Given the description of an element on the screen output the (x, y) to click on. 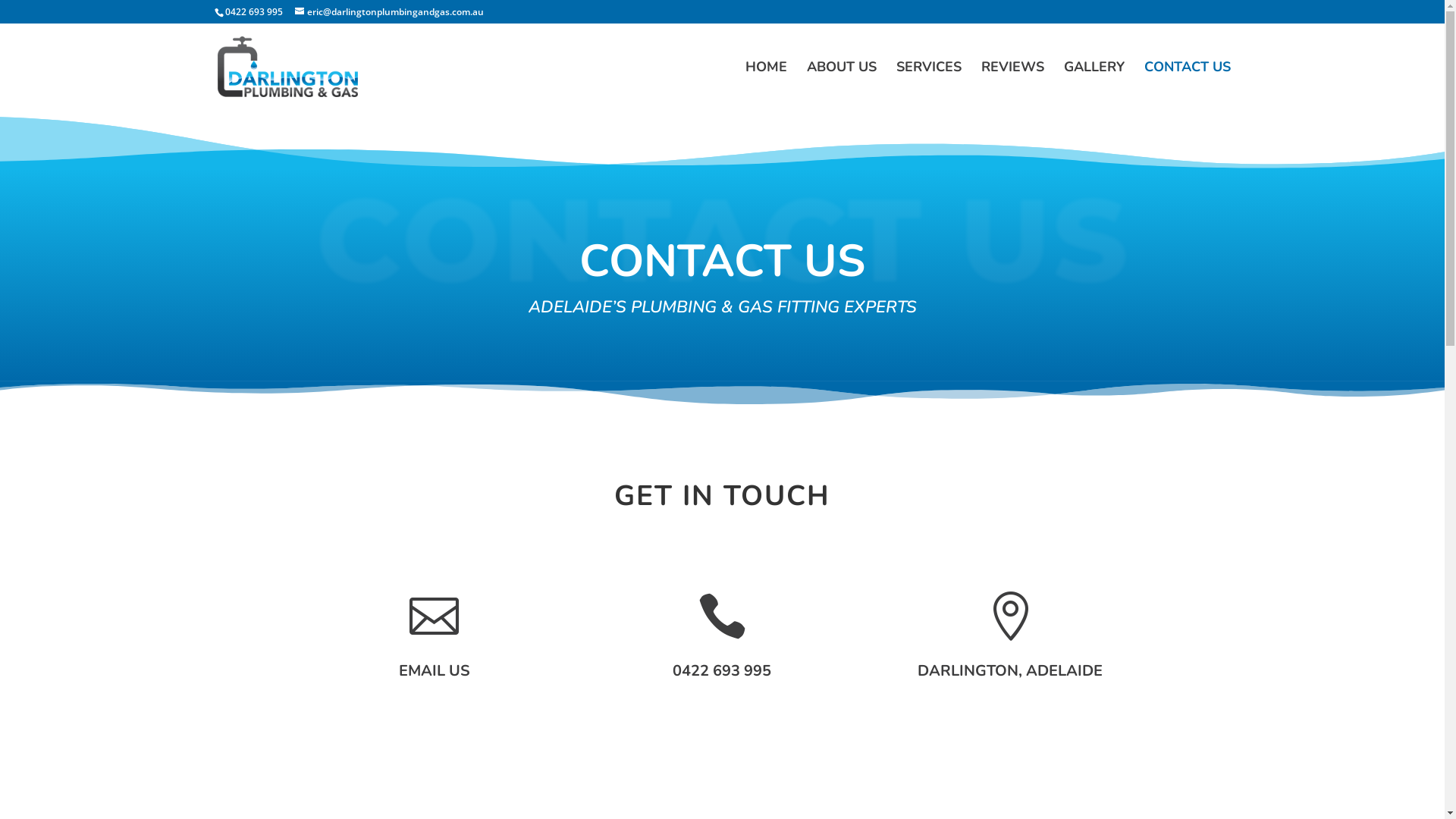
GALLERY Element type: text (1093, 85)
SERVICES Element type: text (928, 85)
eric@darlingtonplumbingandgas.com.au Element type: text (388, 11)
CONTACT US Element type: text (1186, 85)
HOME Element type: text (765, 85)
0422 693 995 Element type: text (253, 11)
REVIEWS Element type: text (1012, 85)
ABOUT US Element type: text (841, 85)
